Given the description of an element on the screen output the (x, y) to click on. 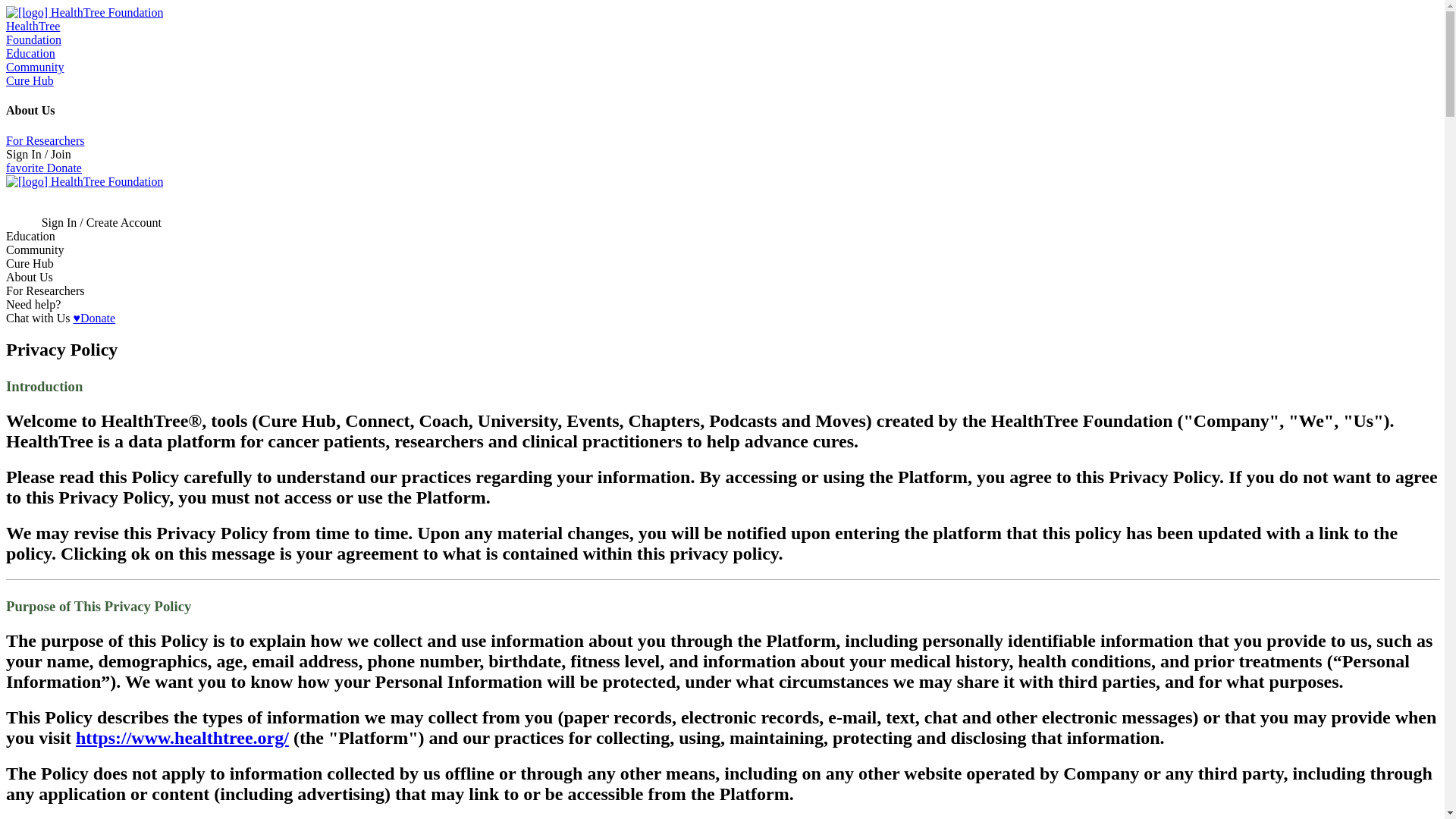
Cure Hub (29, 80)
Chat with Us (37, 318)
Education (30, 52)
favorite Donate (43, 167)
Community (34, 66)
For Researchers (44, 140)
